Given the description of an element on the screen output the (x, y) to click on. 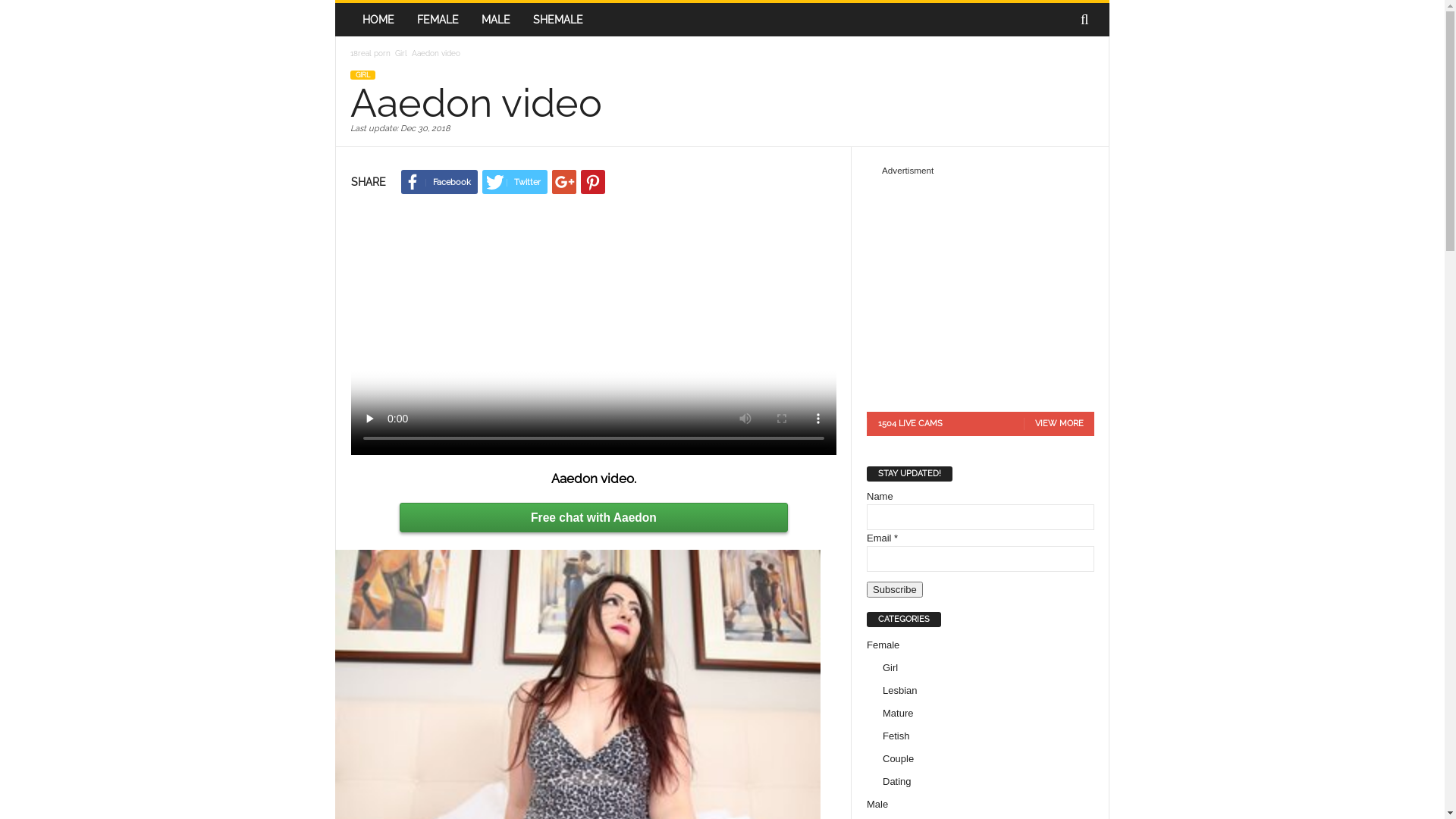
Male Element type: text (877, 803)
Facebook Element type: text (439, 181)
Female Element type: text (882, 644)
Share on Pinterest Element type: hover (592, 181)
Lesbian Element type: text (899, 690)
s1_mature_sarah Element type: hover (980, 287)
Subscribe Element type: text (894, 589)
Couple Element type: text (897, 758)
Free chat with Aaedon Element type: text (593, 517)
FEMALE Element type: text (437, 19)
Twitter Element type: text (514, 181)
Mature Element type: text (897, 712)
Share on Googleplus Element type: hover (564, 181)
GIRL Element type: text (362, 74)
Dating Element type: text (896, 781)
SHEMALE Element type: text (557, 19)
MALE Element type: text (495, 19)
Girl Element type: text (889, 667)
Girl Element type: text (401, 53)
18real porn Element type: text (370, 53)
HOME Element type: text (378, 19)
Fetish Element type: text (895, 735)
